Given the description of an element on the screen output the (x, y) to click on. 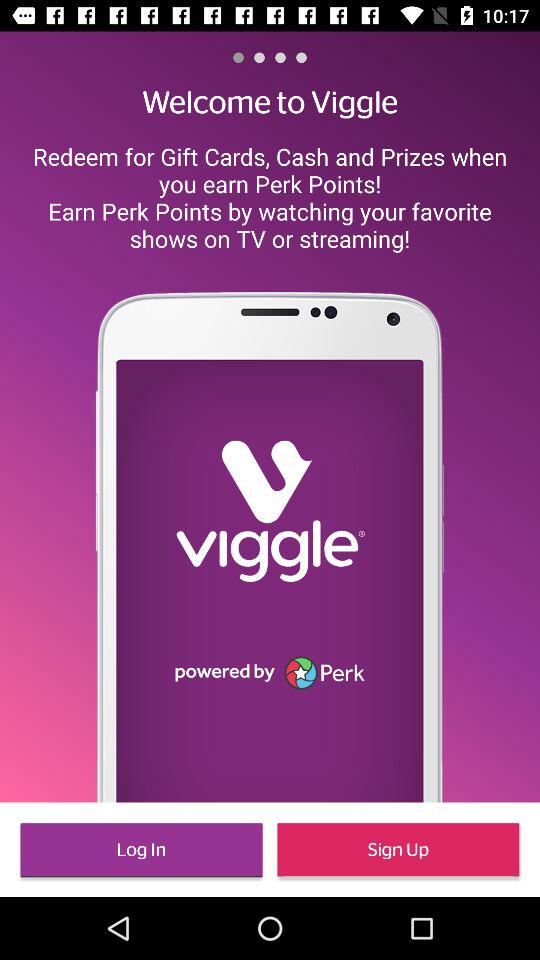
click the item above the welcome to viggle item (280, 57)
